Given the description of an element on the screen output the (x, y) to click on. 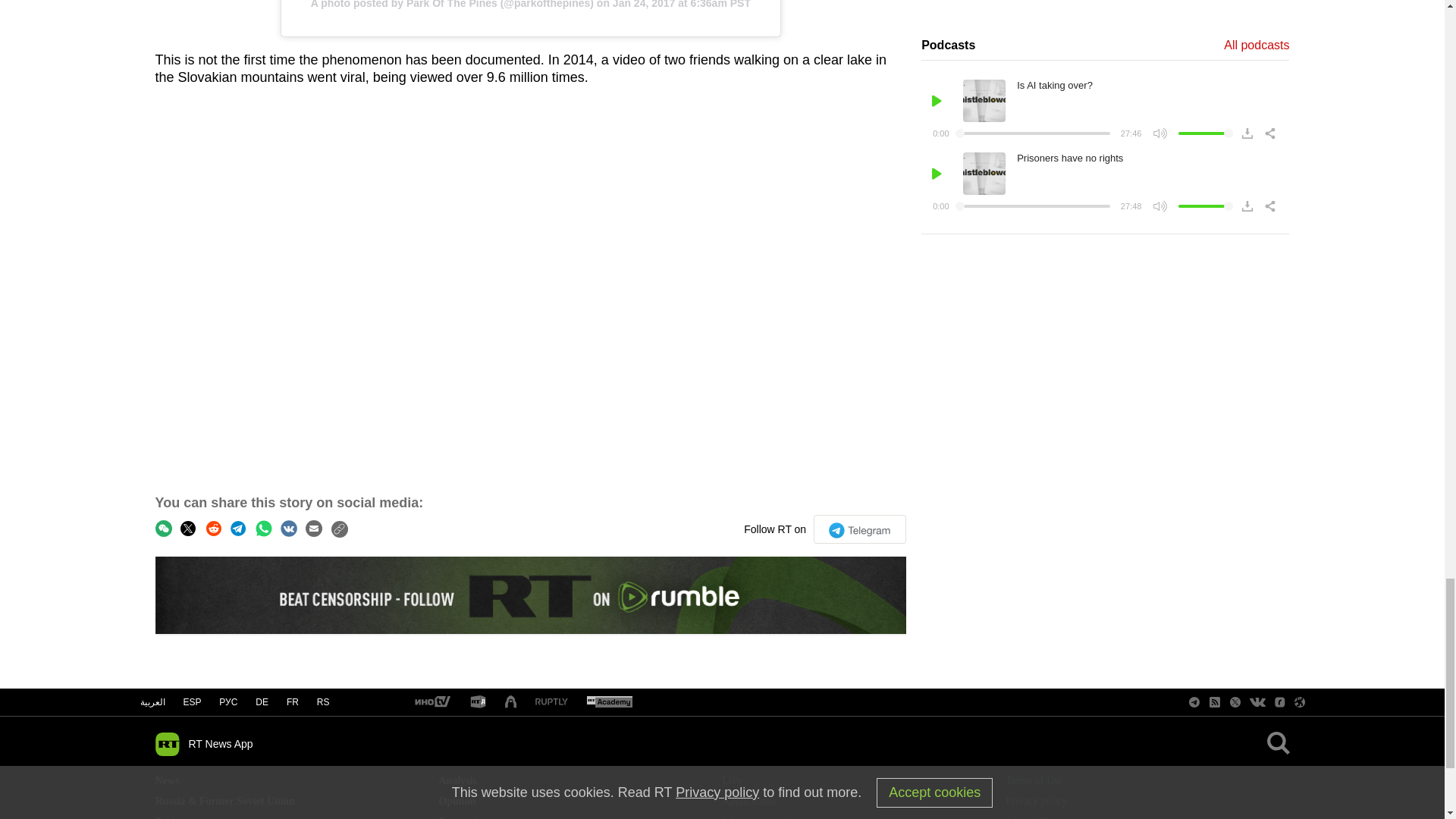
RT  (608, 702)
RT  (478, 702)
RT  (431, 702)
RT  (551, 702)
